Given the description of an element on the screen output the (x, y) to click on. 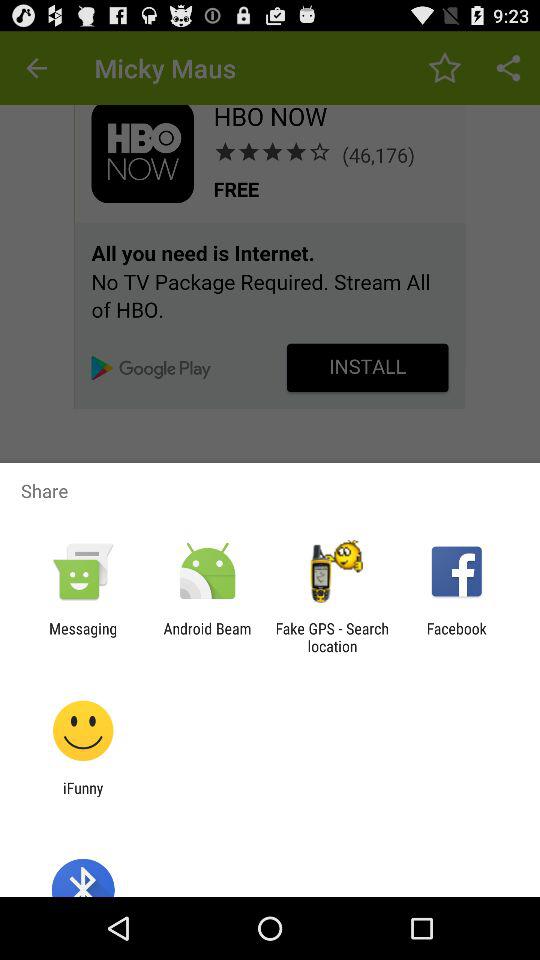
tap the icon to the right of the android beam item (332, 637)
